Given the description of an element on the screen output the (x, y) to click on. 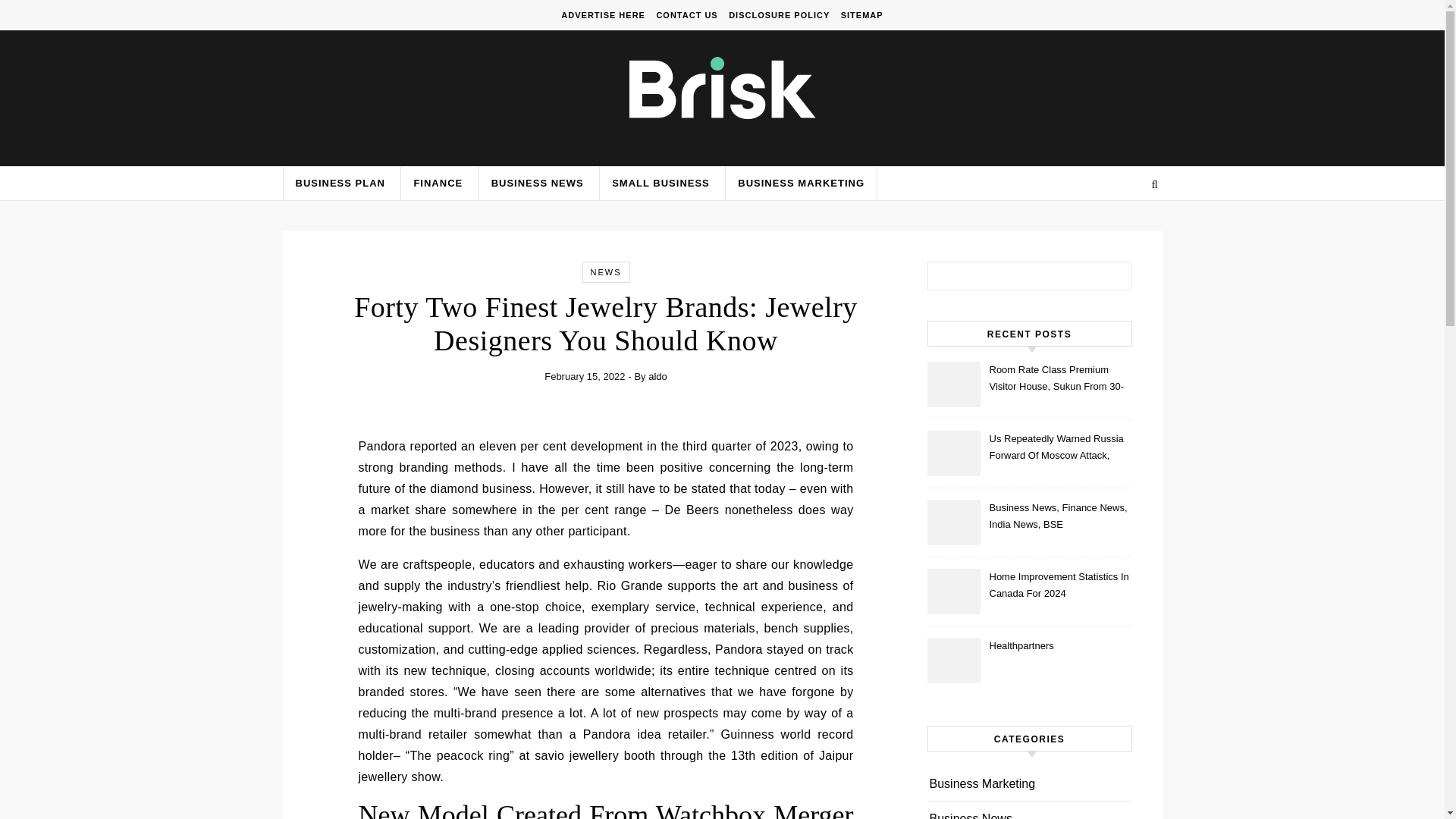
SMALL BUSINESS (660, 183)
Business News, Finance News, India News, BSE (1058, 516)
BUSINESS PLAN (339, 183)
FINANCE (437, 183)
BUSINESS NEWS (537, 183)
DISCLOSURE POLICY (778, 15)
Healthpartners (1058, 655)
aldo (656, 376)
NEWS (605, 271)
Search (1104, 278)
Business News (970, 810)
ADVERTISE HERE (604, 15)
Posts by aldo (656, 376)
SITEMAP (860, 15)
